Given the description of an element on the screen output the (x, y) to click on. 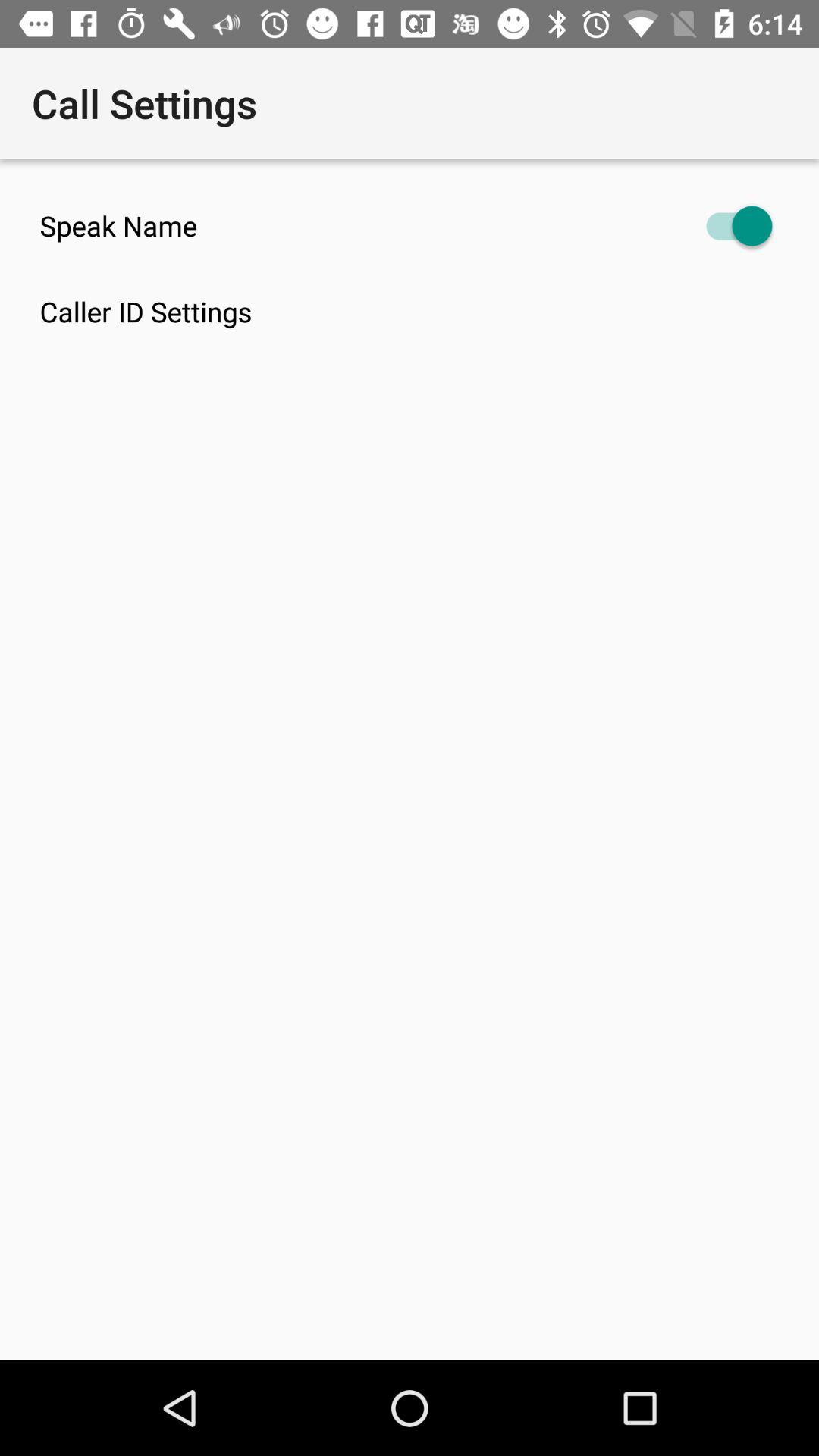
press icon above caller id settings icon (409, 226)
